Given the description of an element on the screen output the (x, y) to click on. 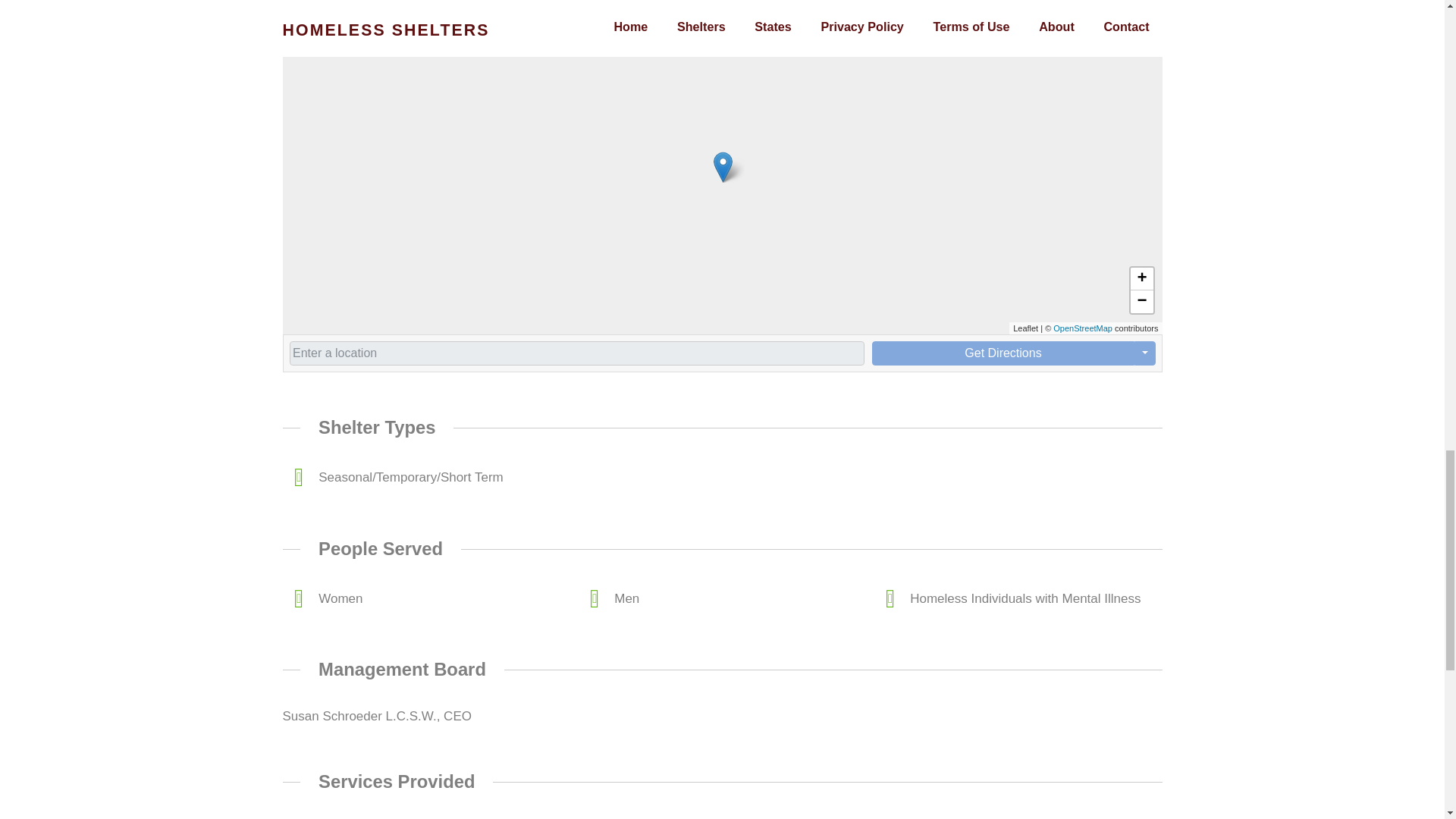
Zoom in (1141, 278)
Road Map (324, 6)
OpenStreetMap (1082, 327)
Get Directions (1003, 353)
Zoom out (1141, 301)
